Given the description of an element on the screen output the (x, y) to click on. 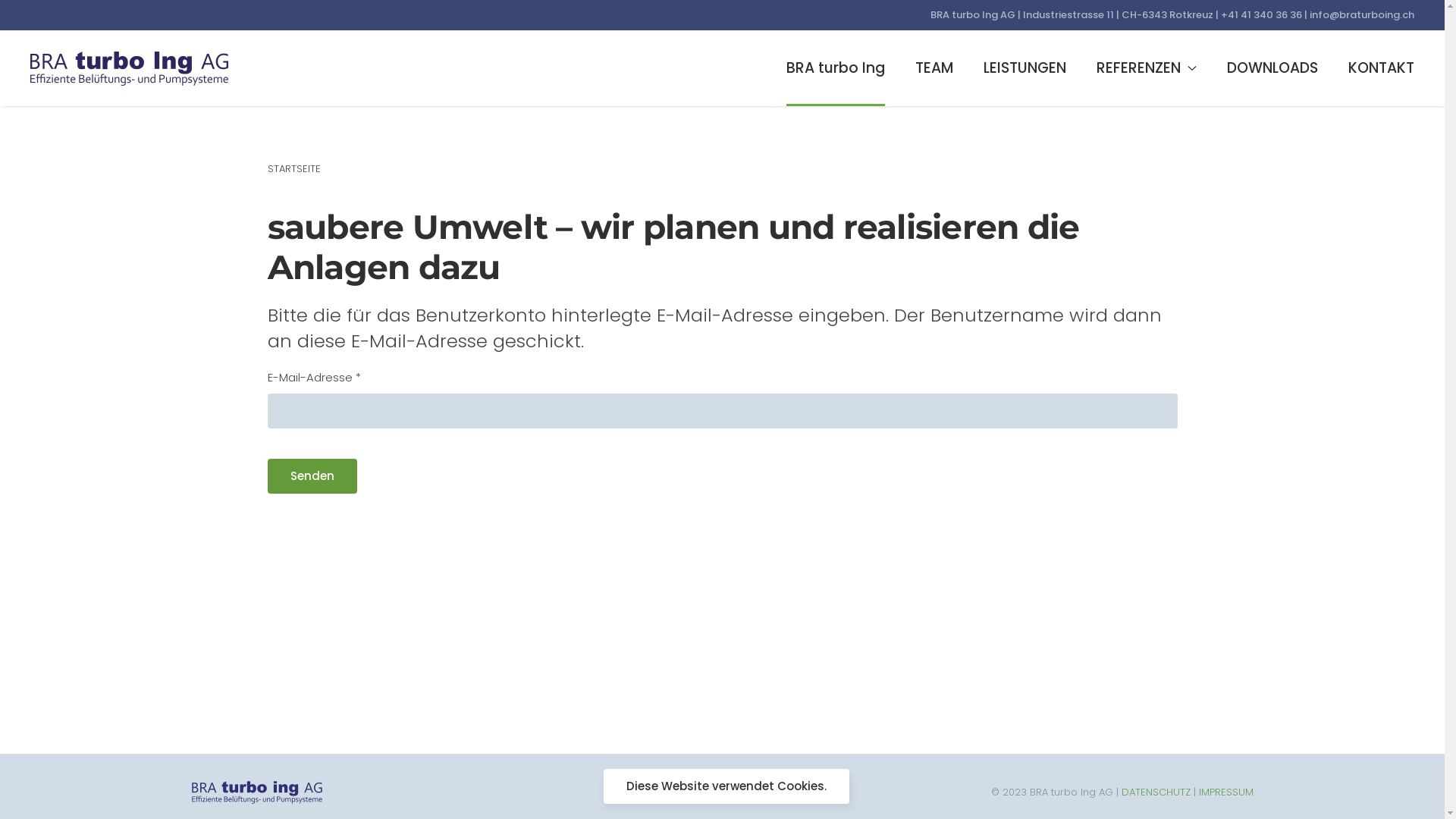
BRA turbo Ing Element type: text (835, 67)
DOWNLOADS Element type: text (1271, 67)
LEISTUNGEN Element type: text (1024, 67)
TEAM Element type: text (934, 67)
KONTAKT Element type: text (1381, 67)
REFERENZEN Element type: text (1146, 67)
Diese Website verwendet Cookies. Element type: text (726, 785)
DATENSCHUTZ Element type: text (1154, 791)
Senden Element type: text (311, 475)
IMPRESSUM Element type: text (1225, 791)
